Given the description of an element on the screen output the (x, y) to click on. 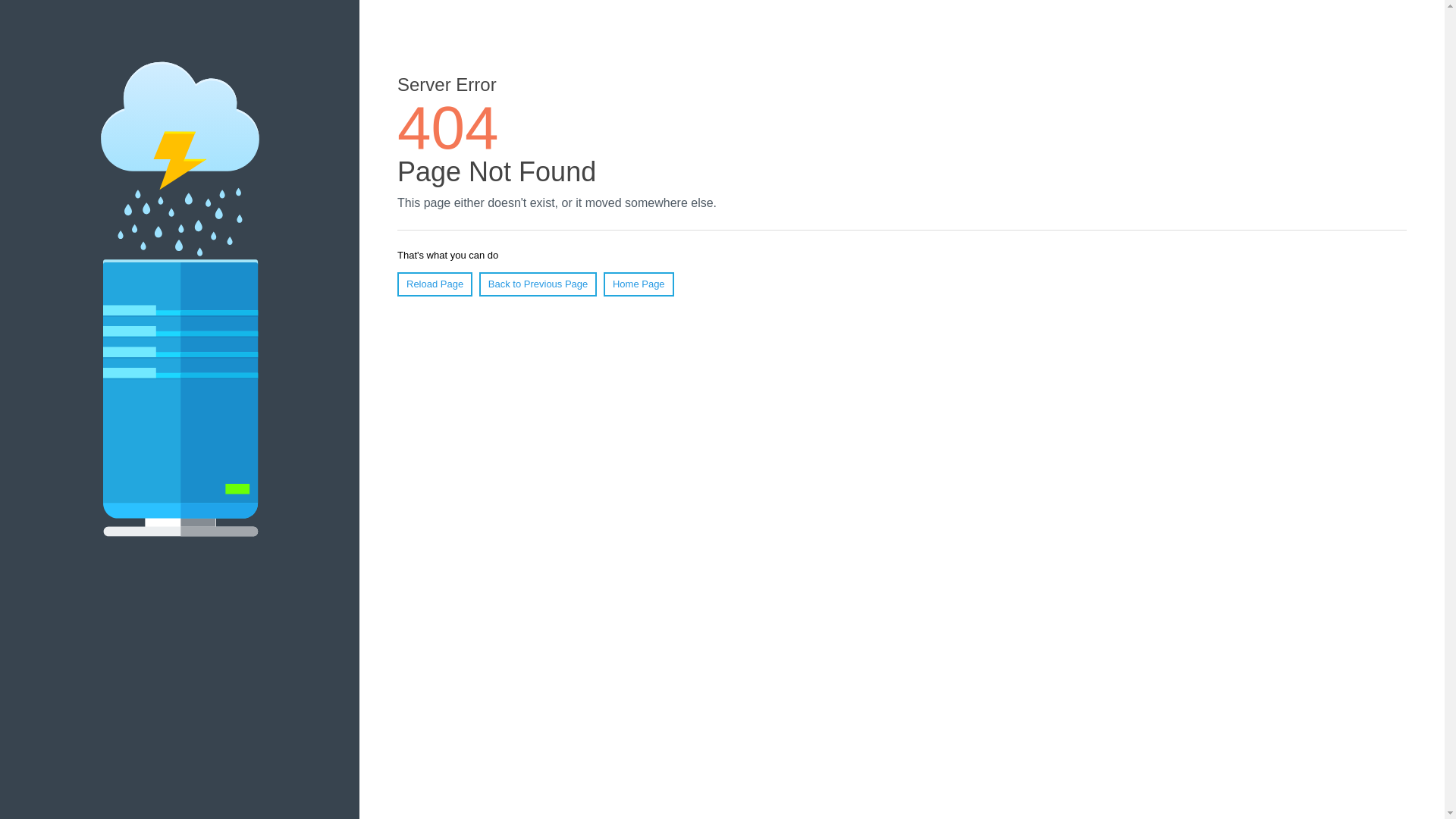
Home Page Element type: text (638, 284)
Back to Previous Page Element type: text (538, 284)
Reload Page Element type: text (434, 284)
